Given the description of an element on the screen output the (x, y) to click on. 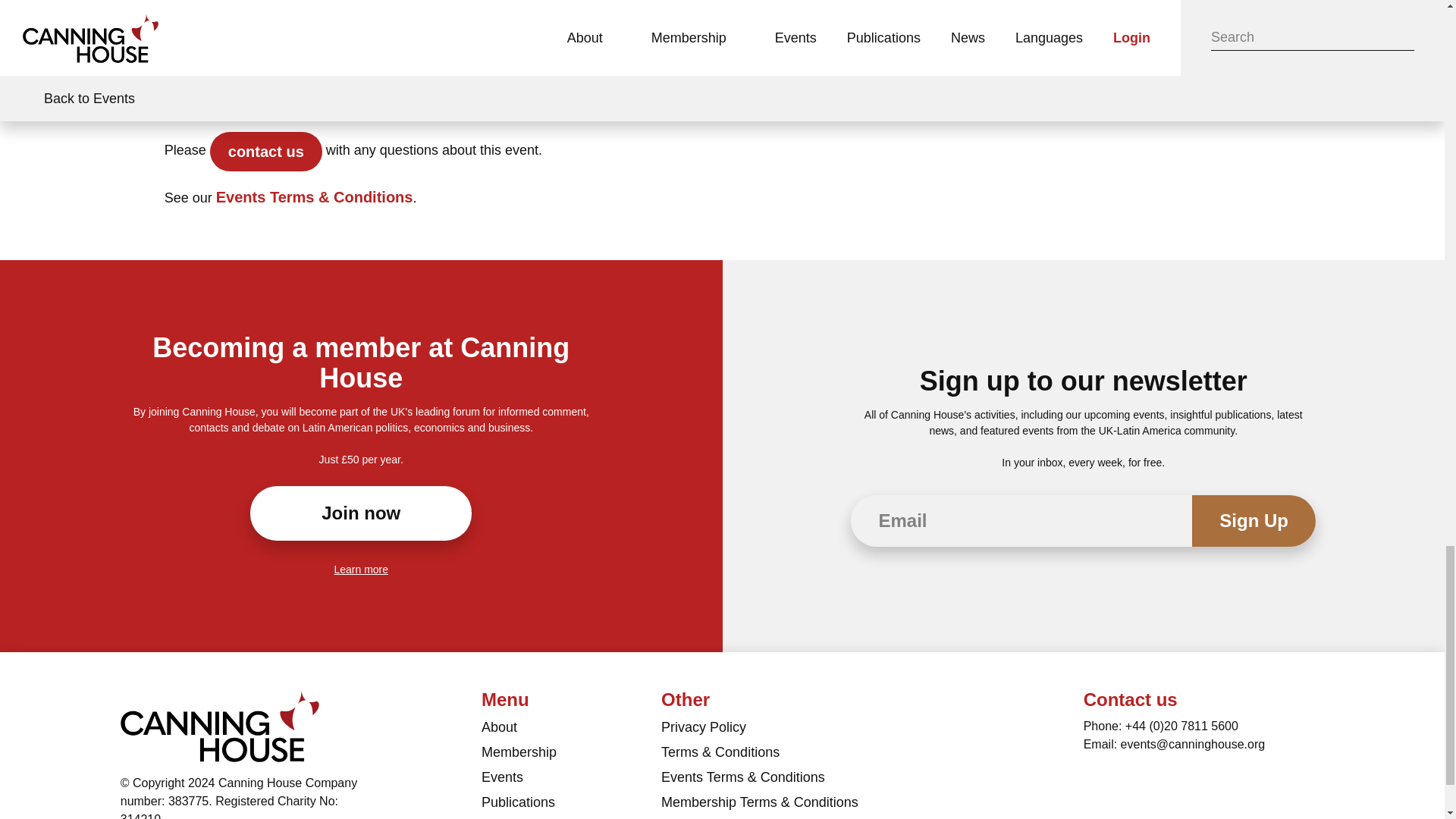
Events (571, 779)
Join now (360, 513)
Join now (360, 513)
About (571, 729)
About (571, 729)
Learn more (360, 569)
Learn more (360, 569)
Privacy Policy (811, 729)
Sign Up (1254, 521)
Canning House homepage (219, 726)
contact us (265, 151)
Publications (571, 804)
Membership (571, 754)
